Given the description of an element on the screen output the (x, y) to click on. 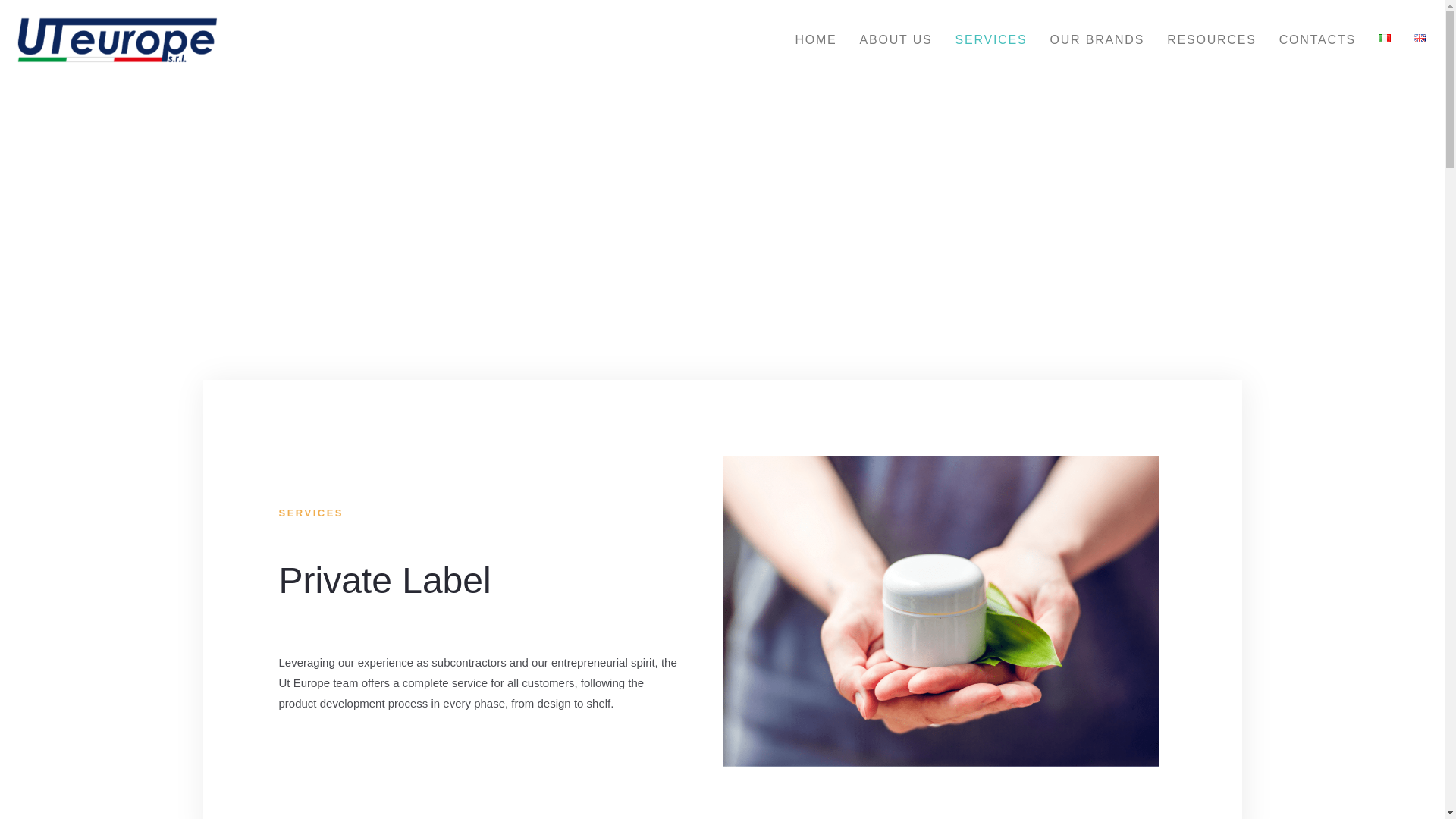
HOME (815, 15)
ABOUT US (895, 19)
RESOURCES (1212, 27)
CONTACTS (1317, 28)
OUR BRANDS (1097, 23)
SERVICES (990, 21)
